Given the description of an element on the screen output the (x, y) to click on. 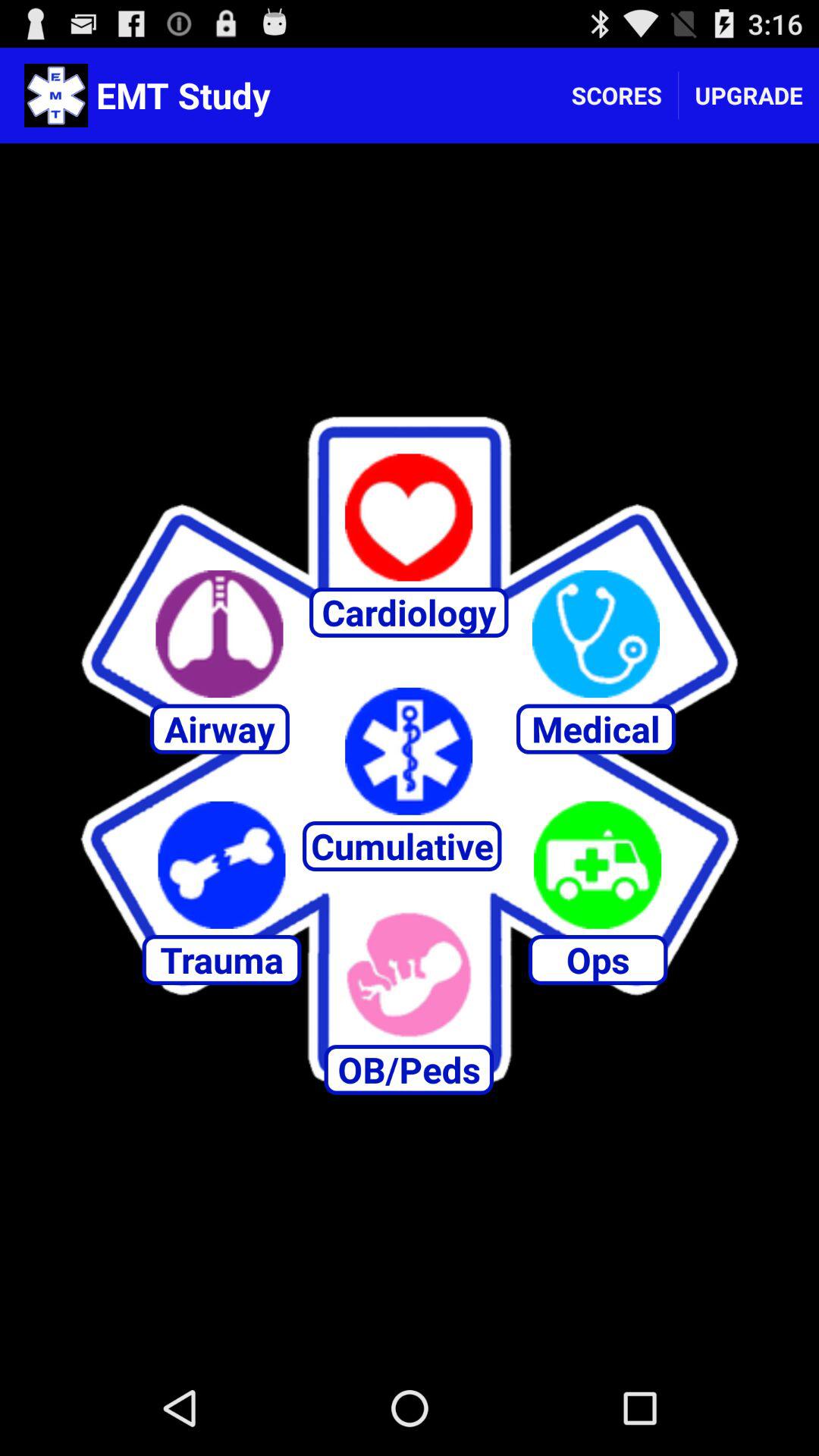
click the ob/peds option (408, 974)
